Given the description of an element on the screen output the (x, y) to click on. 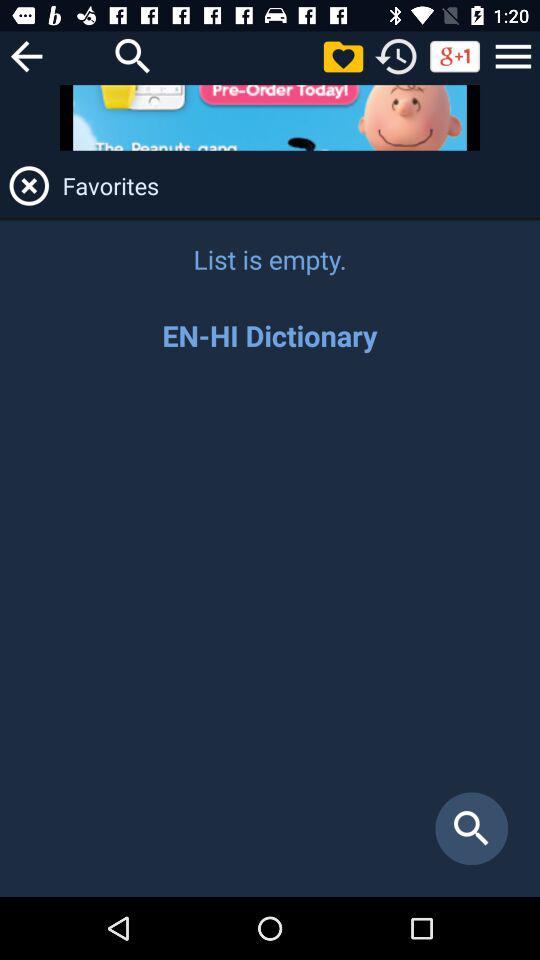
replay (396, 56)
